Given the description of an element on the screen output the (x, y) to click on. 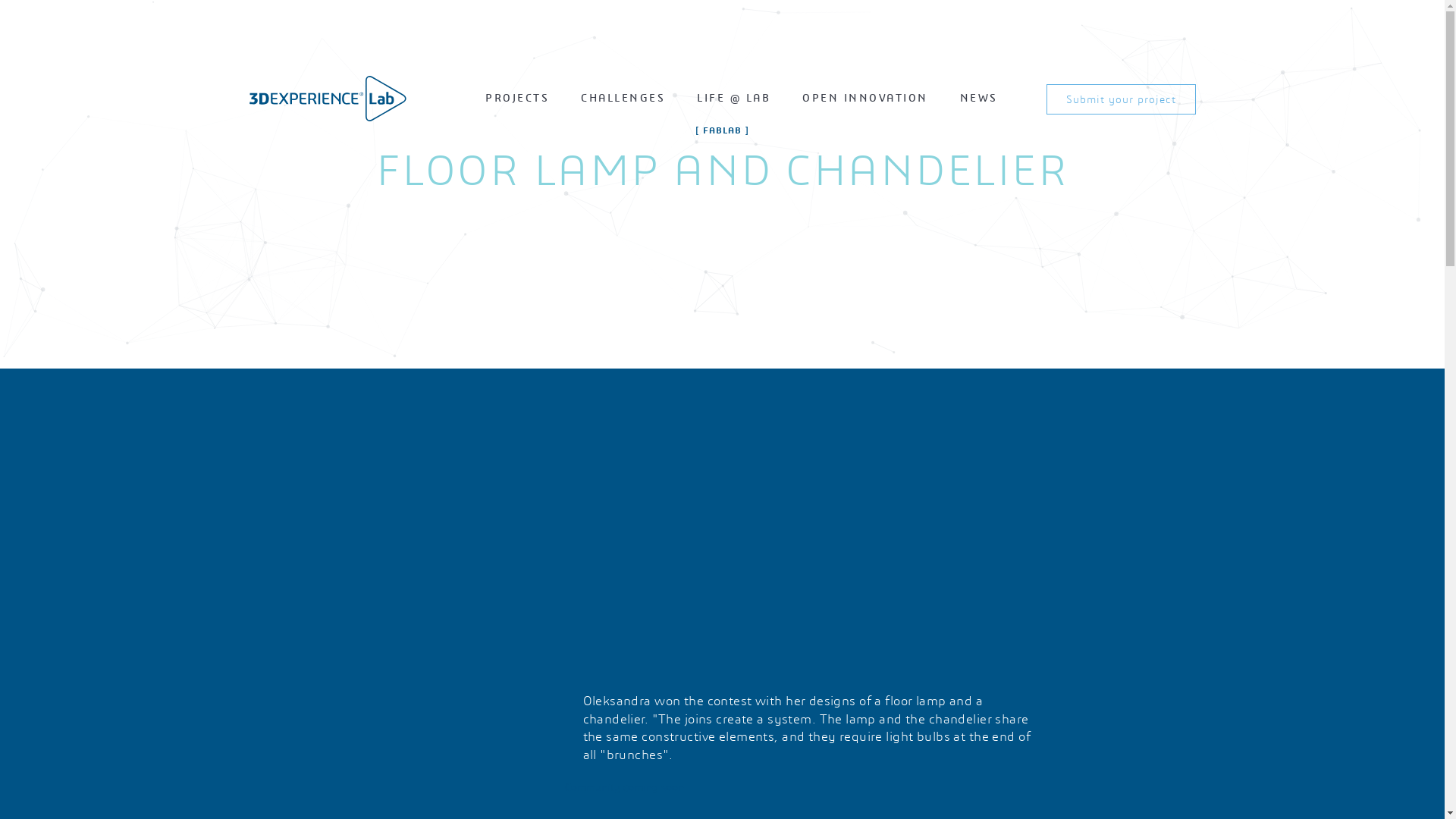
Submit your project Element type: text (1120, 99)
Community coming soon Element type: text (623, 786)
CHALLENGES Element type: text (622, 97)
NEWS Element type: text (978, 97)
LIFE @ LAB Element type: text (733, 97)
PROJECTS Element type: text (517, 97)
FABLAB Element type: text (721, 129)
Skip to main content Element type: text (0, 0)
OPEN INNOVATION Element type: text (865, 97)
